Given the description of an element on the screen output the (x, y) to click on. 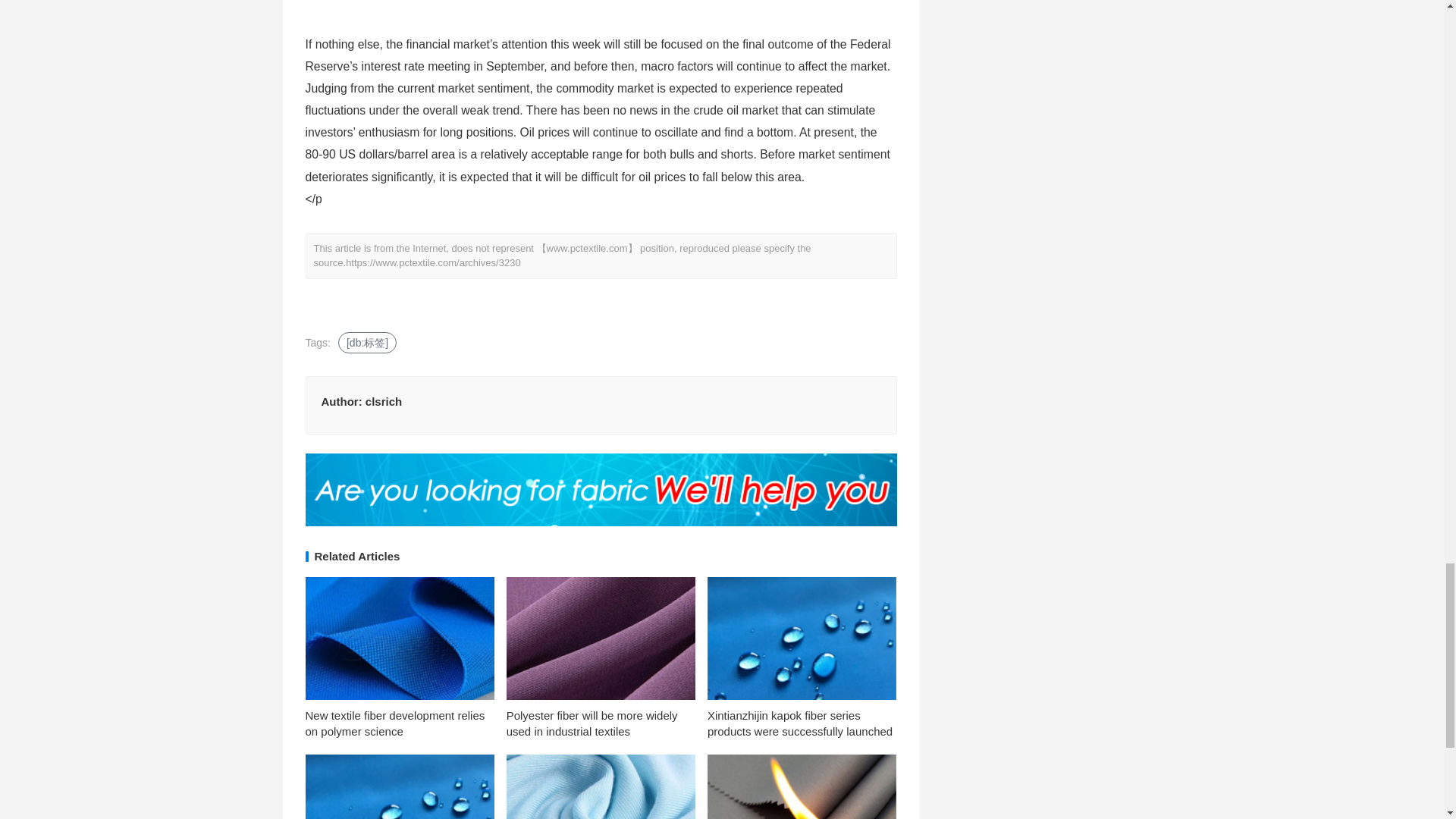
clsrich (383, 400)
New textile fiber development relies on polymer science (394, 723)
